Given the description of an element on the screen output the (x, y) to click on. 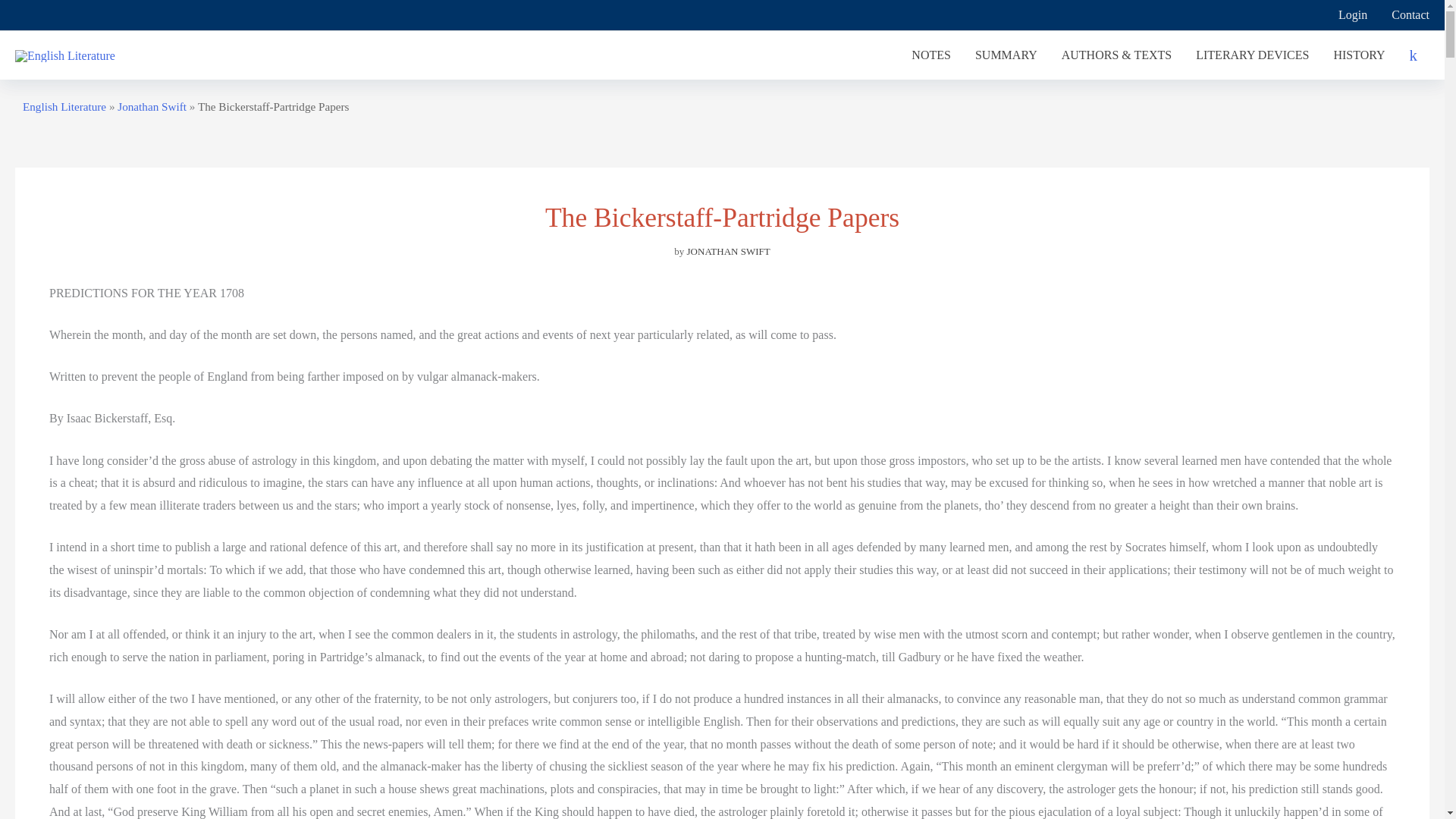
English Literature notes (930, 55)
HISTORY (1358, 55)
LITERARY DEVICES (1251, 55)
NOTES (930, 55)
Jonathan Swift (151, 106)
History of English Literature (1358, 55)
JONATHAN SWIFT (728, 251)
SUMMARY (1005, 55)
Contact (1403, 15)
English Literature (64, 106)
Login (1352, 15)
